Given the description of an element on the screen output the (x, y) to click on. 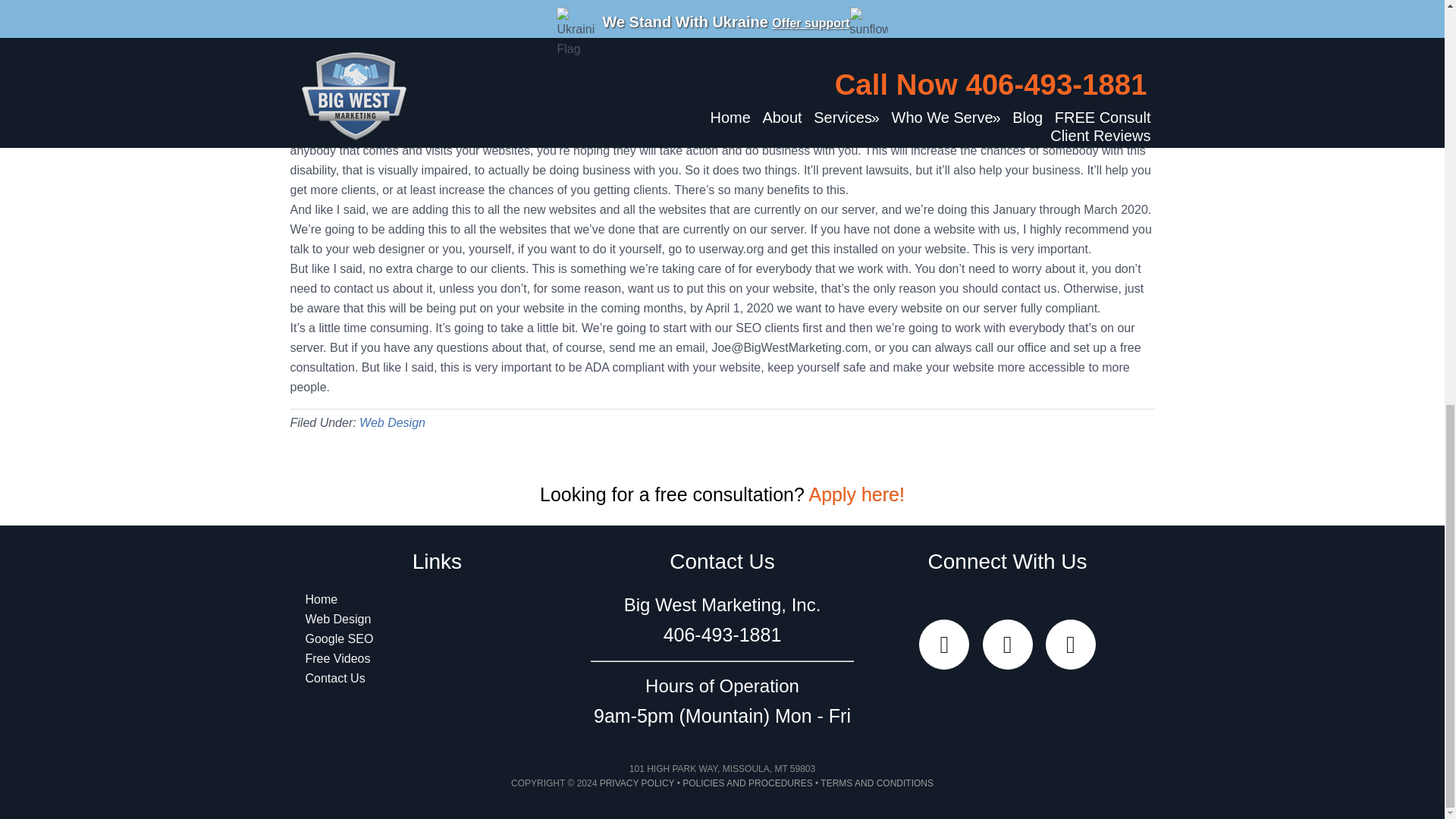
Big West Marketing 406-493-1881 on Instagram (1070, 644)
Big West Marketing 406-493-1881 on Facebook (1007, 644)
Big West Marketing 406-493-1881 on Google (943, 644)
